Given the description of an element on the screen output the (x, y) to click on. 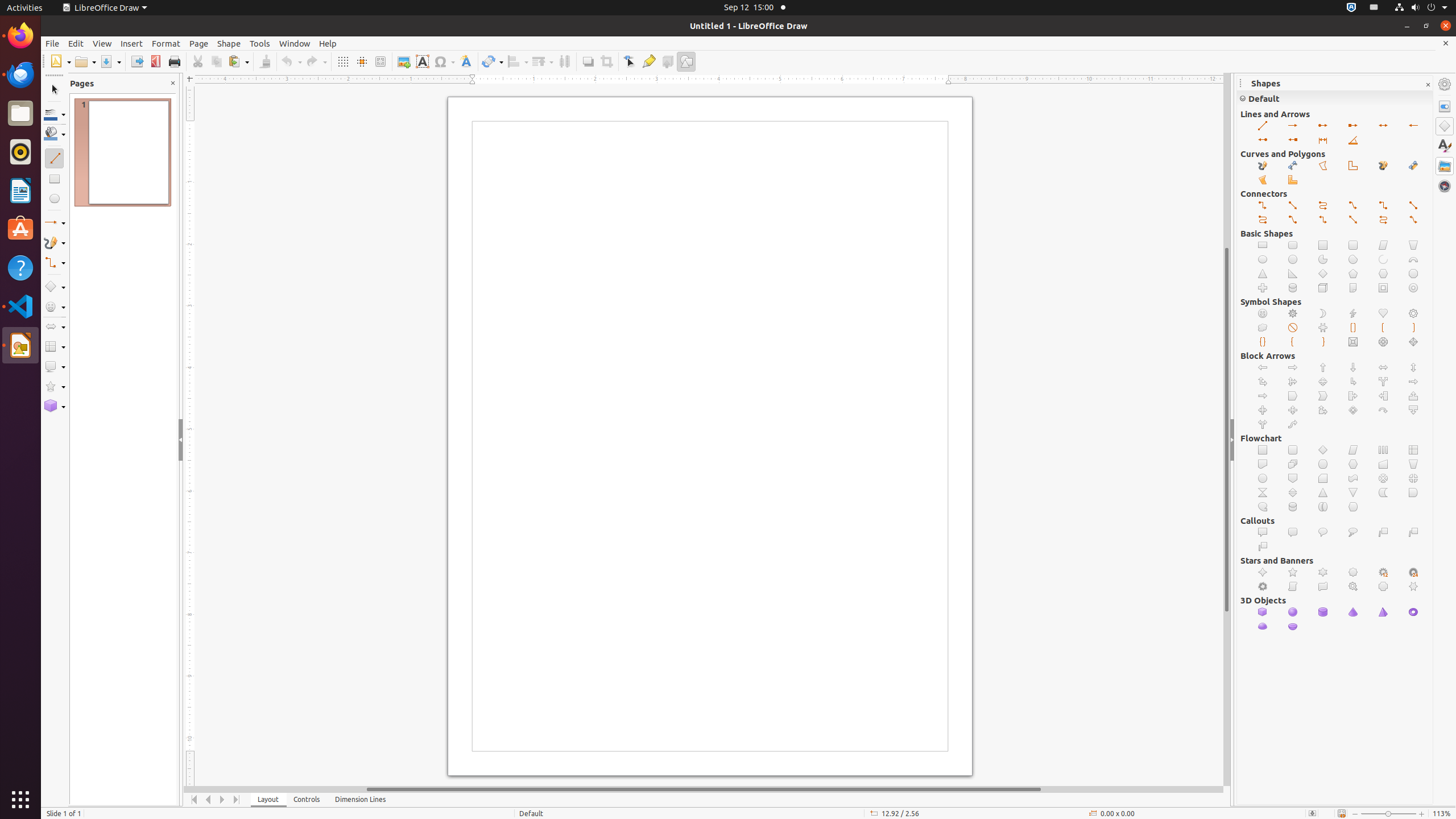
Cone Element type: list-item (1353, 612)
Freeform Line, Filled Element type: list-item (1383, 165)
Polygon (45°) Element type: list-item (1353, 165)
Helplines While Moving Element type: toggle-button (361, 61)
Left and Right Arrow Element type: list-item (1383, 367)
